Given the description of an element on the screen output the (x, y) to click on. 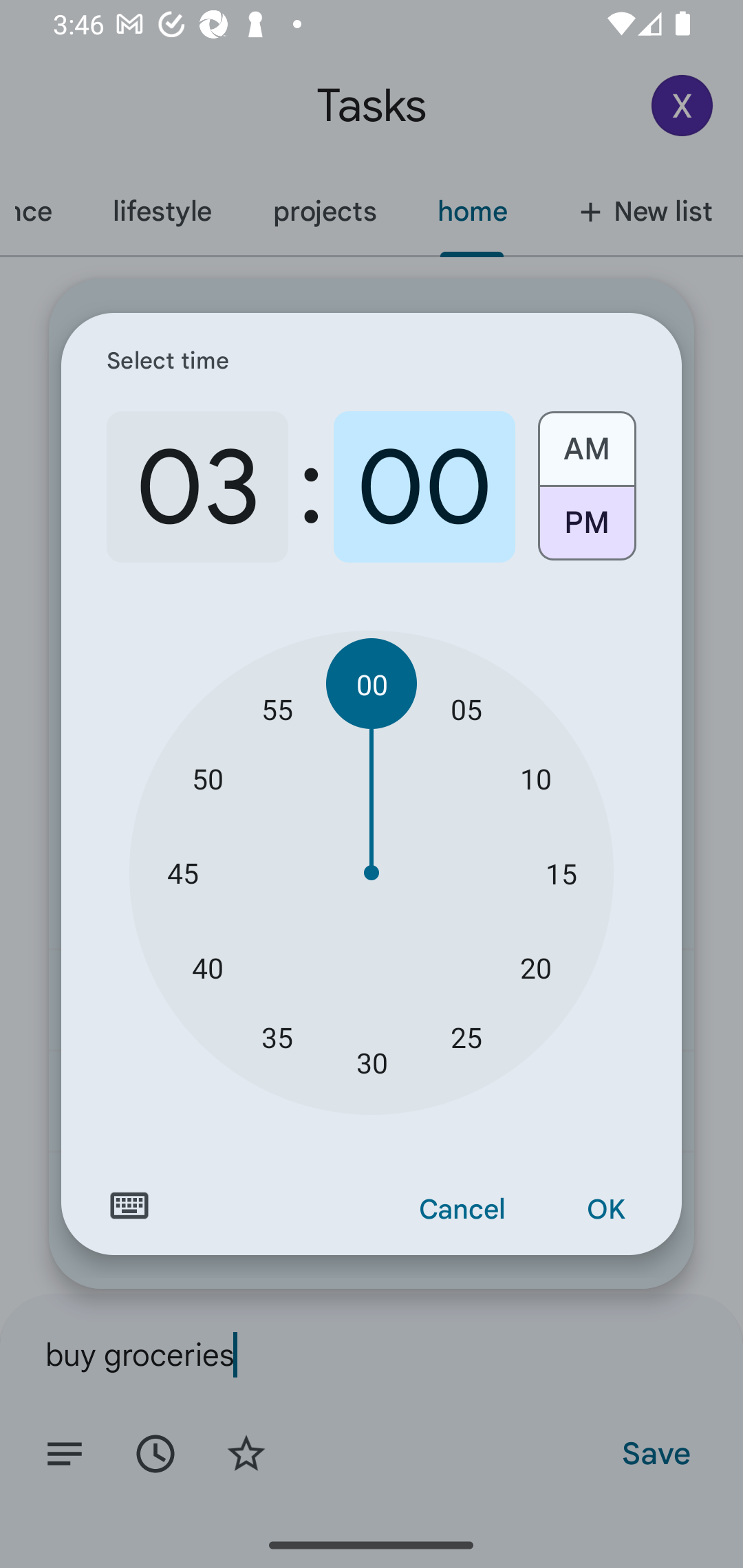
AM (586, 441)
03 3 o'clock (197, 486)
00 0 minutes (424, 486)
PM (586, 529)
00 00 minutes (371, 683)
55 55 minutes (276, 708)
05 05 minutes (466, 708)
50 50 minutes (207, 778)
10 10 minutes (535, 778)
45 45 minutes (182, 872)
15 15 minutes (561, 872)
40 40 minutes (207, 966)
20 20 minutes (535, 966)
35 35 minutes (276, 1035)
25 25 minutes (466, 1035)
30 30 minutes (371, 1062)
Switch to text input mode for the time input. (128, 1205)
Cancel (462, 1209)
OK (605, 1209)
